Given the description of an element on the screen output the (x, y) to click on. 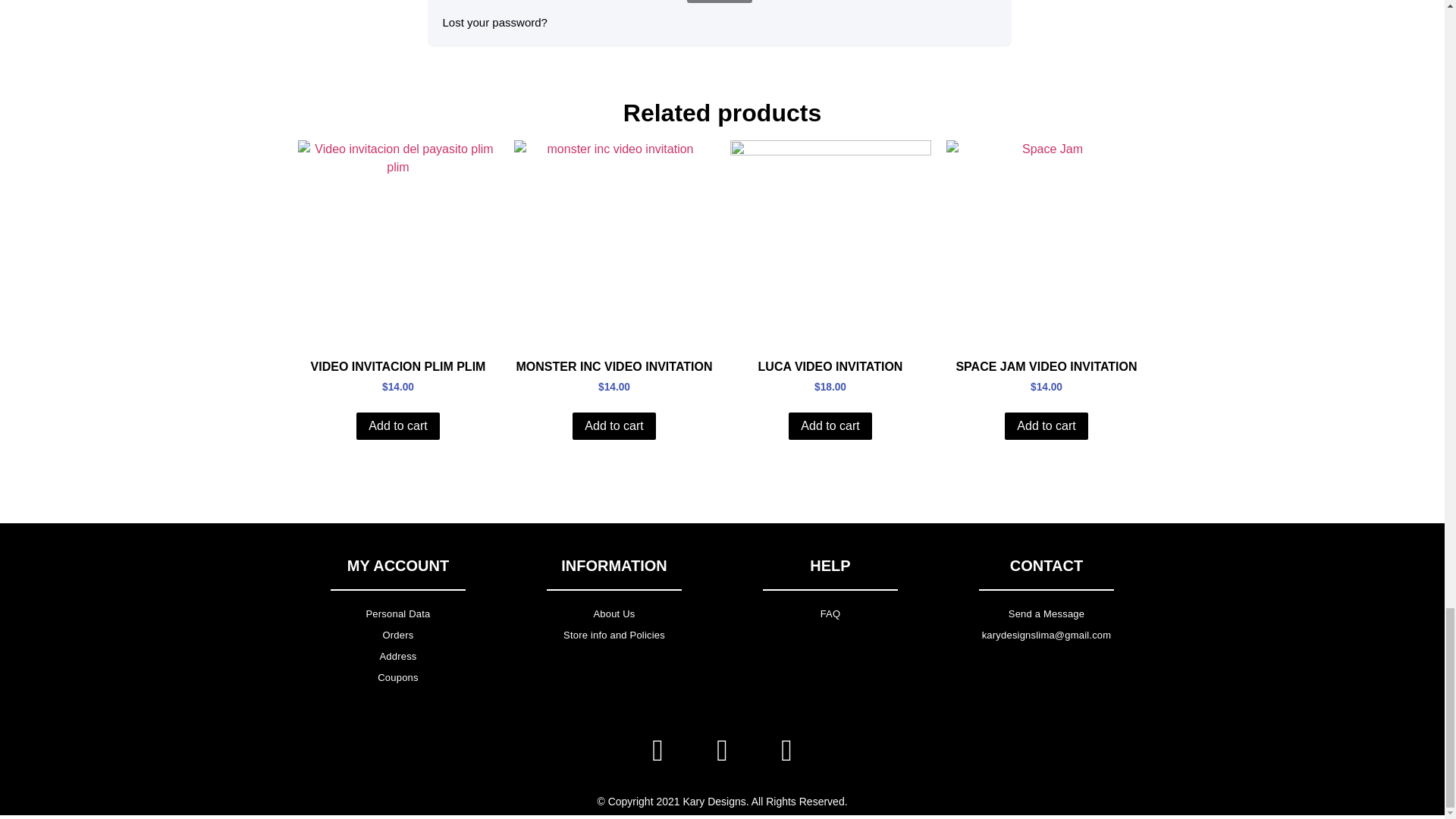
Log In (719, 1)
